Given the description of an element on the screen output the (x, y) to click on. 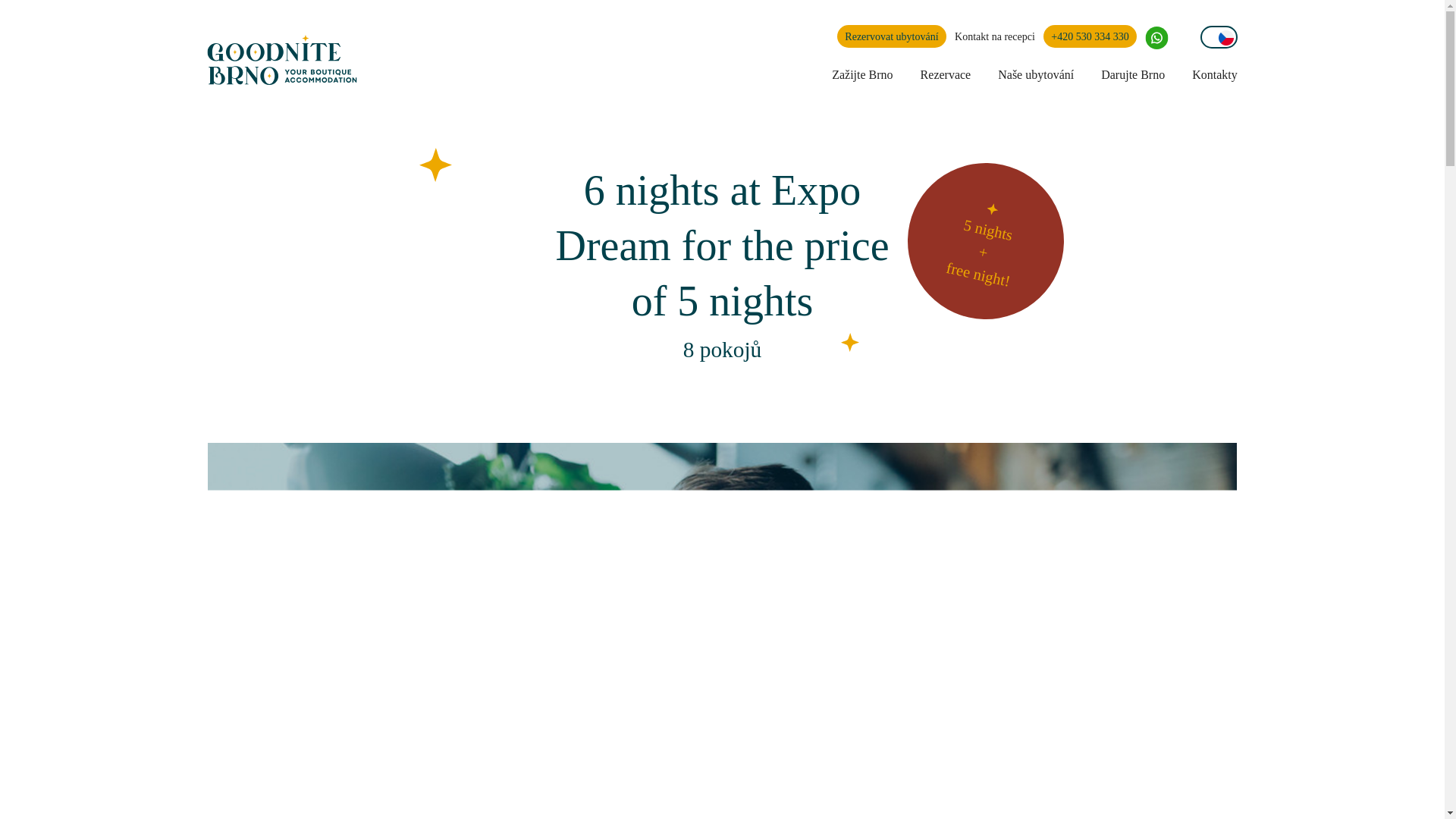
Darujte Brno (1132, 75)
Rezervace (945, 75)
Darujte Brno (1132, 75)
Kontakty (1214, 75)
Rezervace (945, 75)
Kontakty (1214, 75)
